Given the description of an element on the screen output the (x, y) to click on. 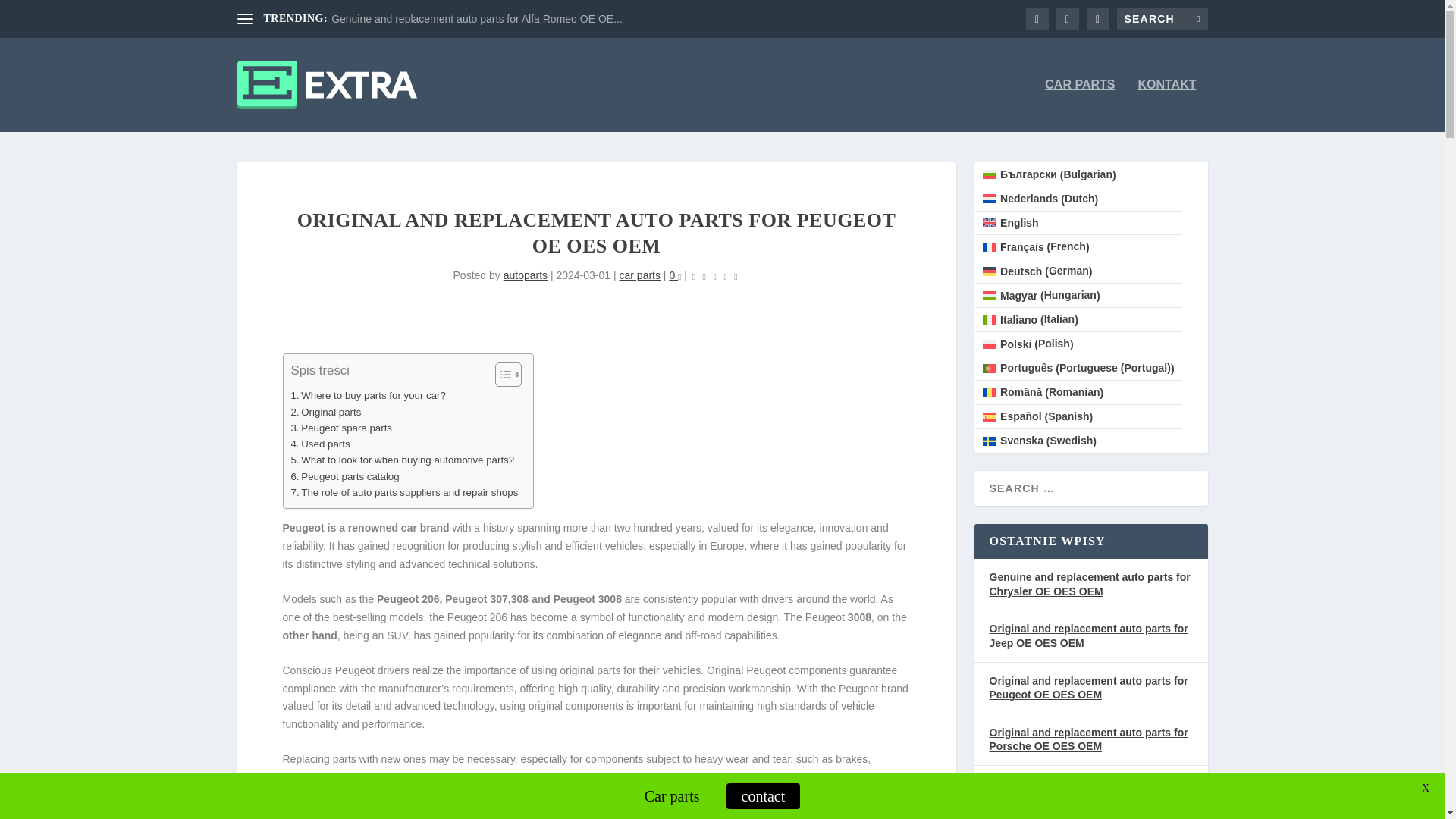
CAR PARTS (1080, 104)
Peugeot parts catalog (344, 476)
Search for: (1161, 18)
The role of auto parts suppliers and repair shops (404, 492)
Rating: 0.00 (714, 275)
Used parts (320, 443)
Genuine and replacement auto parts for Alfa Romeo OE OE... (477, 19)
KONTAKT (1166, 104)
Peugeot spare parts (342, 427)
Peugeot parts catalog (344, 476)
What to look for when buying automotive parts? (403, 459)
Posts by autoparts (525, 275)
0 (674, 275)
Where to buy parts for your car? (368, 395)
Original parts (326, 412)
